Given the description of an element on the screen output the (x, y) to click on. 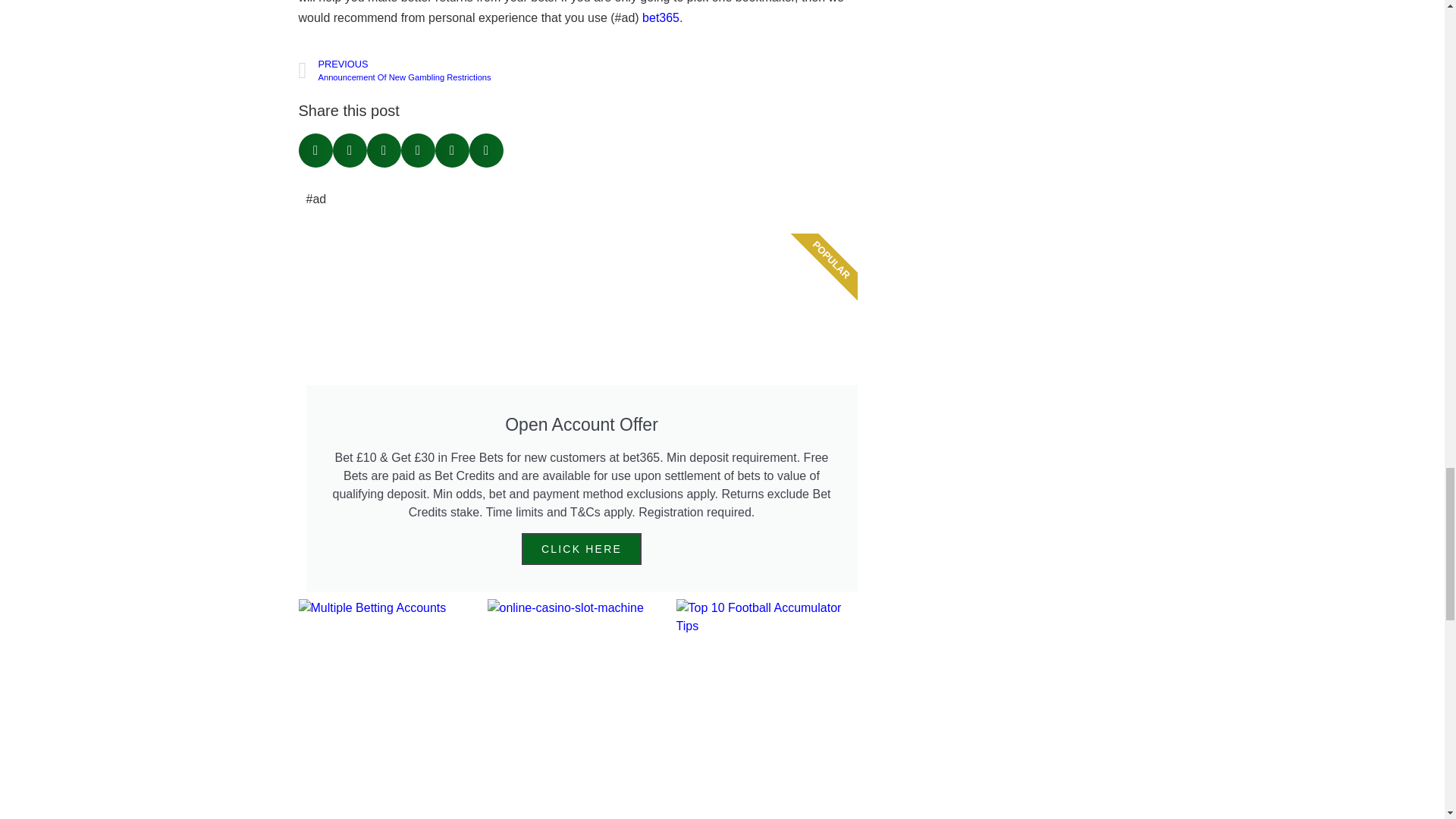
CLICK HERE (581, 549)
bet365 (440, 70)
